Given the description of an element on the screen output the (x, y) to click on. 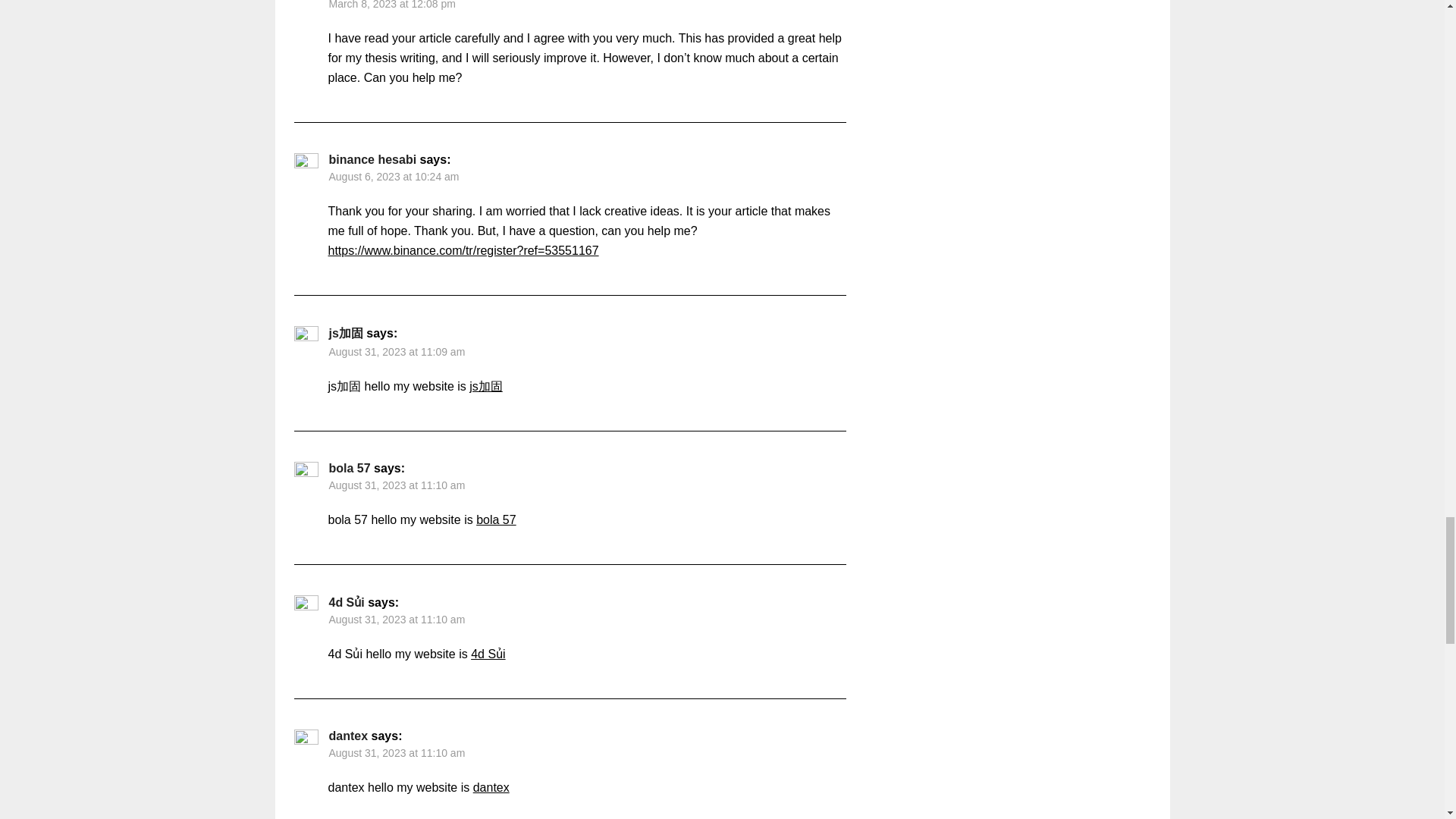
March 8, 2023 at 12:08 pm (392, 4)
binance hesabi (372, 159)
bola 57 (350, 468)
August 31, 2023 at 11:10 am (397, 485)
August 31, 2023 at 11:09 am (397, 351)
August 6, 2023 at 10:24 am (394, 176)
